Given the description of an element on the screen output the (x, y) to click on. 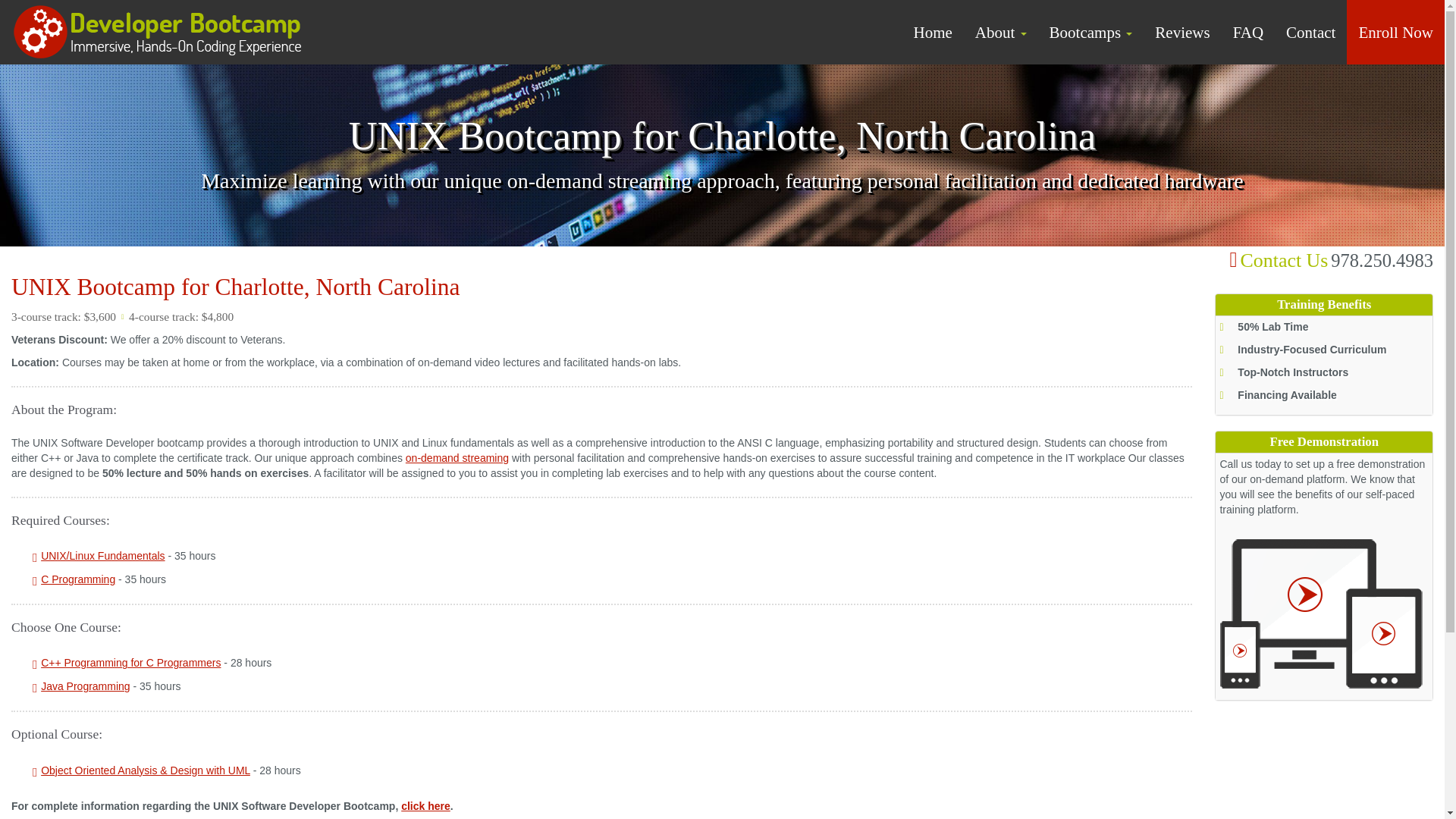
on-demand streaming (457, 458)
About (1000, 32)
Reviews (1181, 32)
Home (931, 32)
Java Programming (85, 686)
Contact (1310, 32)
C Programming (77, 579)
click here (425, 806)
FAQ (1248, 32)
Bootcamps (1091, 32)
